Given the description of an element on the screen output the (x, y) to click on. 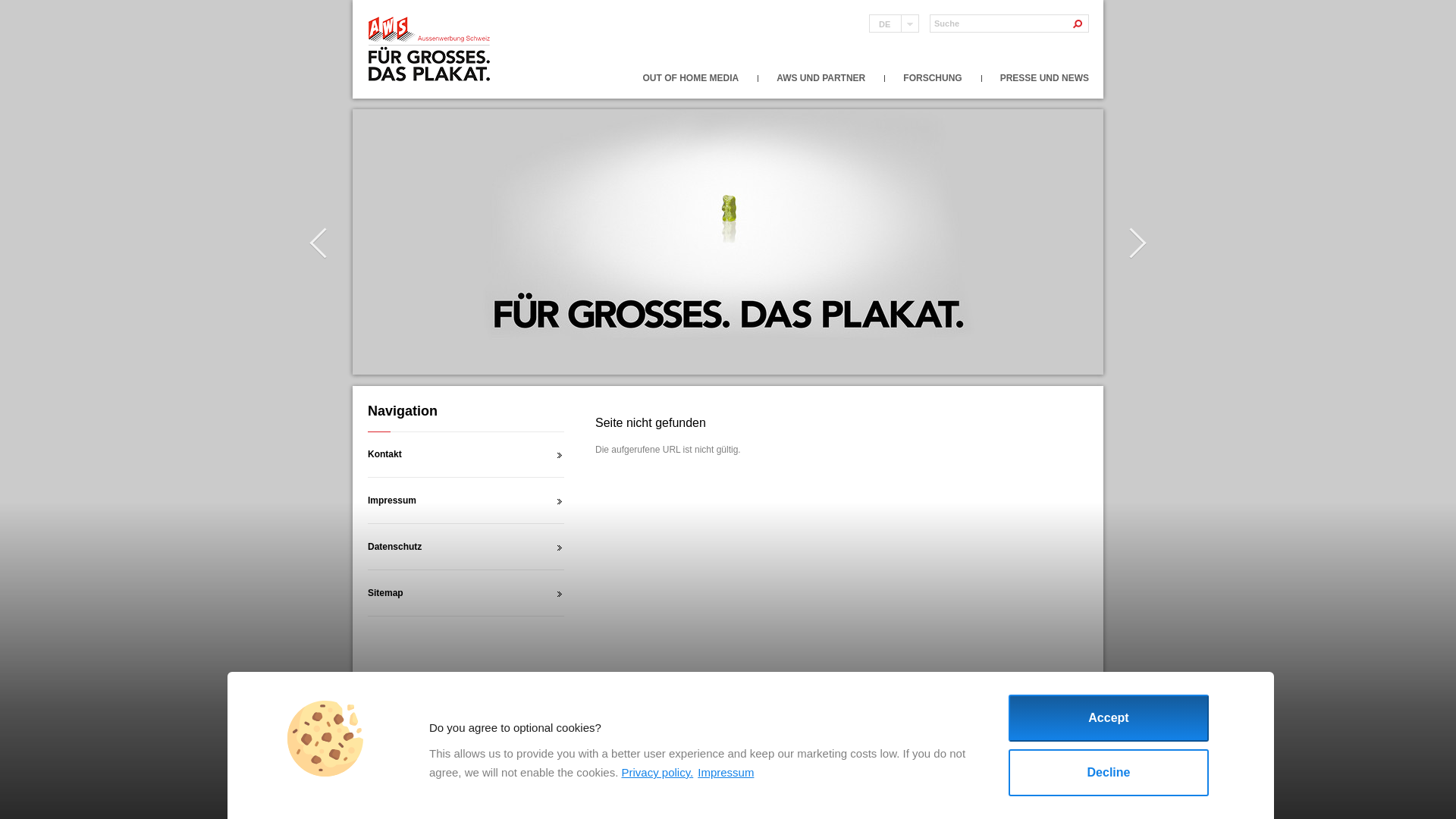
IMPRESSUM Element type: text (436, 703)
KONTAKT Element type: text (384, 703)
> Element type: text (1137, 243)
Accept Element type: text (1108, 717)
FORSCHUNG Element type: text (932, 77)
Kontakt Element type: text (465, 453)
Aussenwerbung Schweiz fur grosses das plakat Element type: text (429, 49)
Impressum Element type: text (465, 500)
AWS UND PARTNER Element type: text (820, 77)
Impressum Element type: text (725, 771)
Datenschutz Element type: text (465, 546)
Decline Element type: text (1108, 772)
DATENSCHUTZ Element type: text (496, 703)
SITEMAP Element type: text (551, 703)
PRESSE UND NEWS Element type: text (1044, 77)
Sitemap Element type: text (465, 592)
search Element type: text (1079, 23)
OUT OF HOME MEDIA Element type: text (691, 77)
< Element type: text (317, 243)
Privacy policy. Element type: text (657, 771)
